Given the description of an element on the screen output the (x, y) to click on. 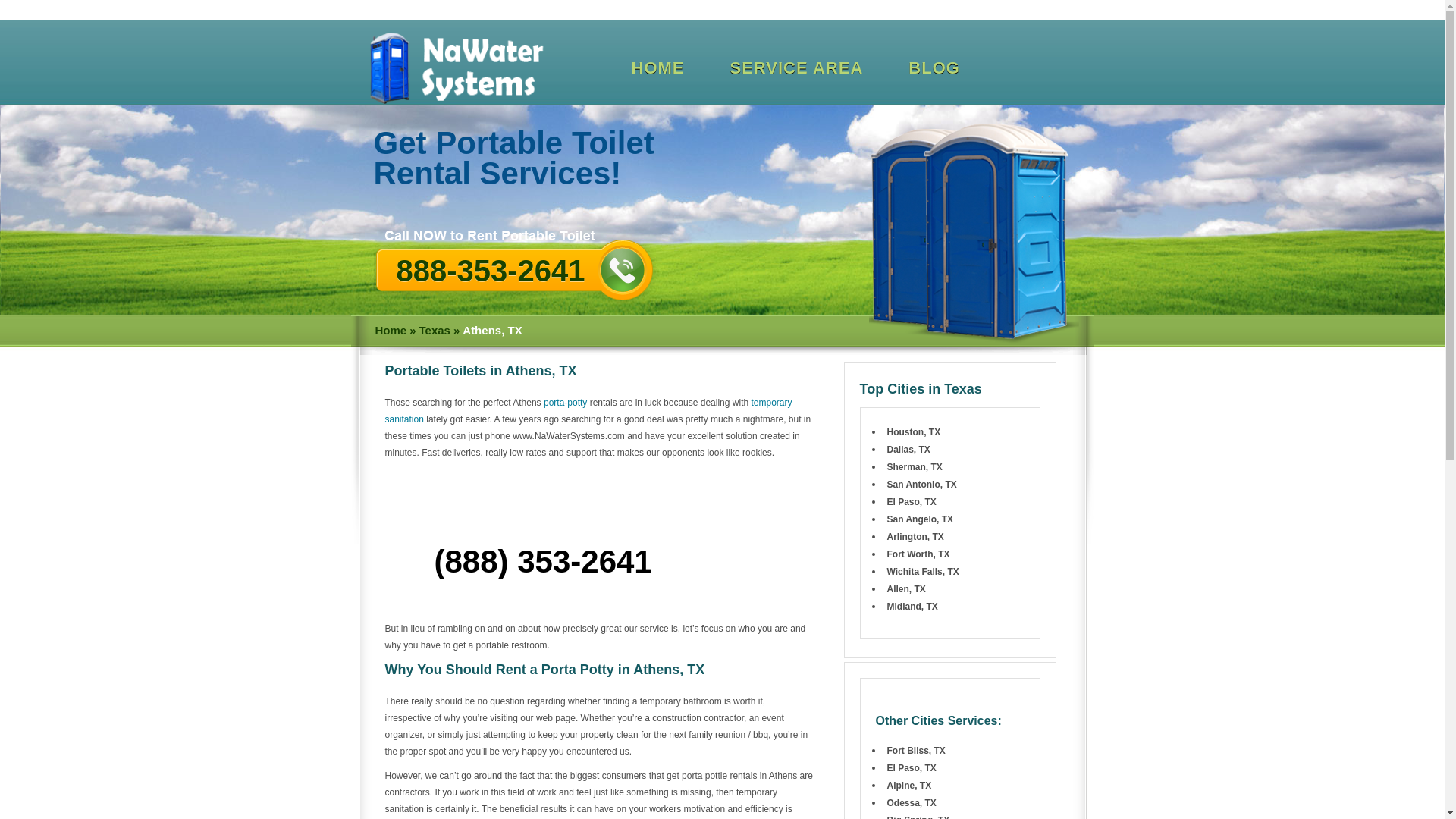
Home (390, 330)
Dallas, TX (908, 449)
Sherman, TX (914, 466)
El Paso, TX (911, 501)
Texas (434, 330)
Alpine, TX (908, 785)
El Paso, TX (911, 767)
Portable Toilets in Big Spring, TX (918, 816)
porta-potty (564, 402)
Arlington, TX (914, 536)
HOME (657, 68)
Portable Toilets in Alpine, TX (908, 785)
Big Spring, TX (918, 816)
Midland, TX (911, 606)
temporary sanitation (588, 411)
